Given the description of an element on the screen output the (x, y) to click on. 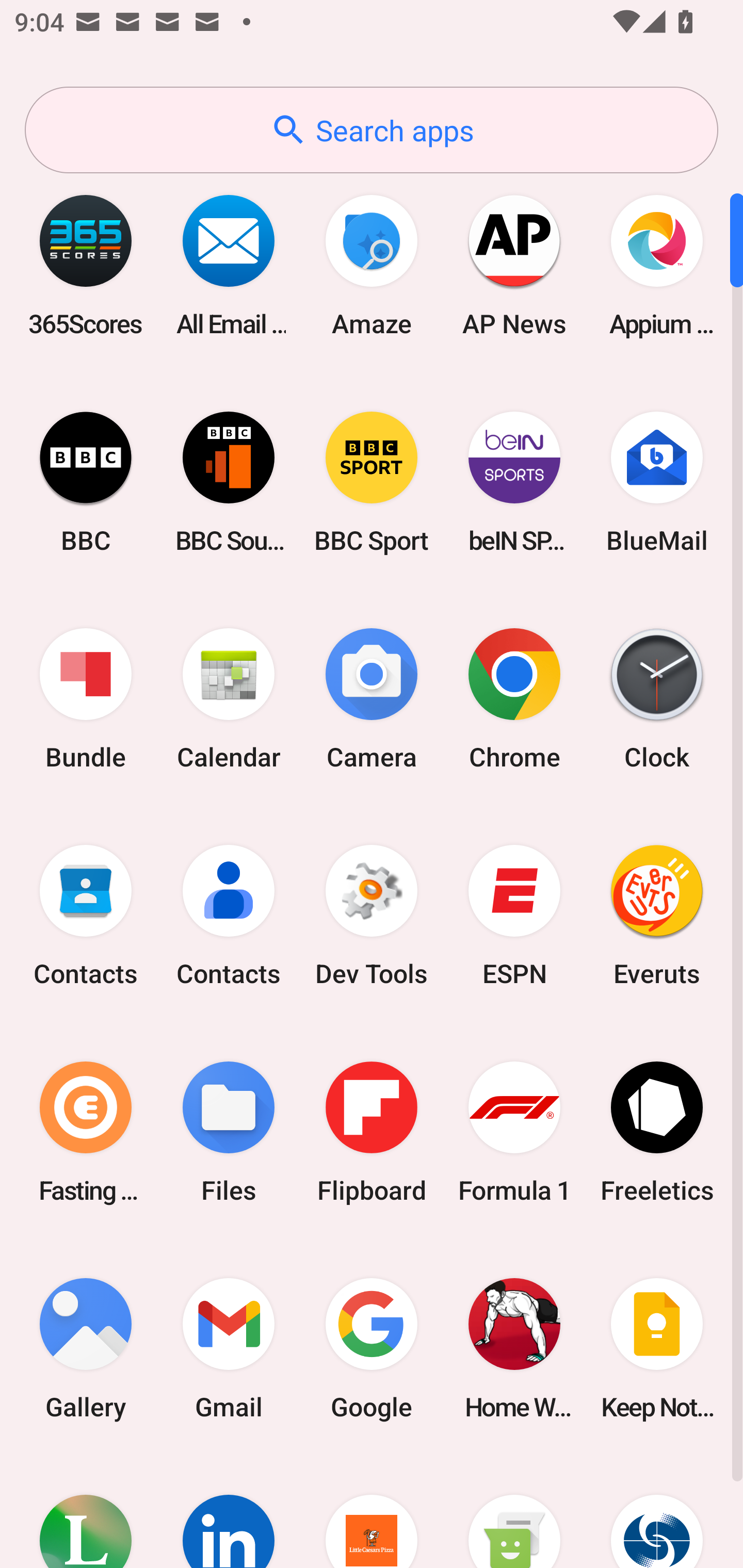
  Search apps (371, 130)
365Scores (85, 264)
All Email Connect (228, 264)
Amaze (371, 264)
AP News (514, 264)
Appium Settings (656, 264)
BBC (85, 482)
BBC Sounds (228, 482)
BBC Sport (371, 482)
beIN SPORTS (514, 482)
BlueMail (656, 482)
Bundle (85, 699)
Calendar (228, 699)
Camera (371, 699)
Chrome (514, 699)
Clock (656, 699)
Contacts (85, 915)
Contacts (228, 915)
Dev Tools (371, 915)
ESPN (514, 915)
Everuts (656, 915)
Fasting Coach (85, 1131)
Files (228, 1131)
Flipboard (371, 1131)
Formula 1 (514, 1131)
Freeletics (656, 1131)
Gallery (85, 1348)
Gmail (228, 1348)
Google (371, 1348)
Home Workout (514, 1348)
Keep Notes (656, 1348)
Lifesum (85, 1512)
LinkedIn (228, 1512)
Little Caesars Pizza (371, 1512)
Messaging (514, 1512)
MyObservatory (656, 1512)
